Given the description of an element on the screen output the (x, y) to click on. 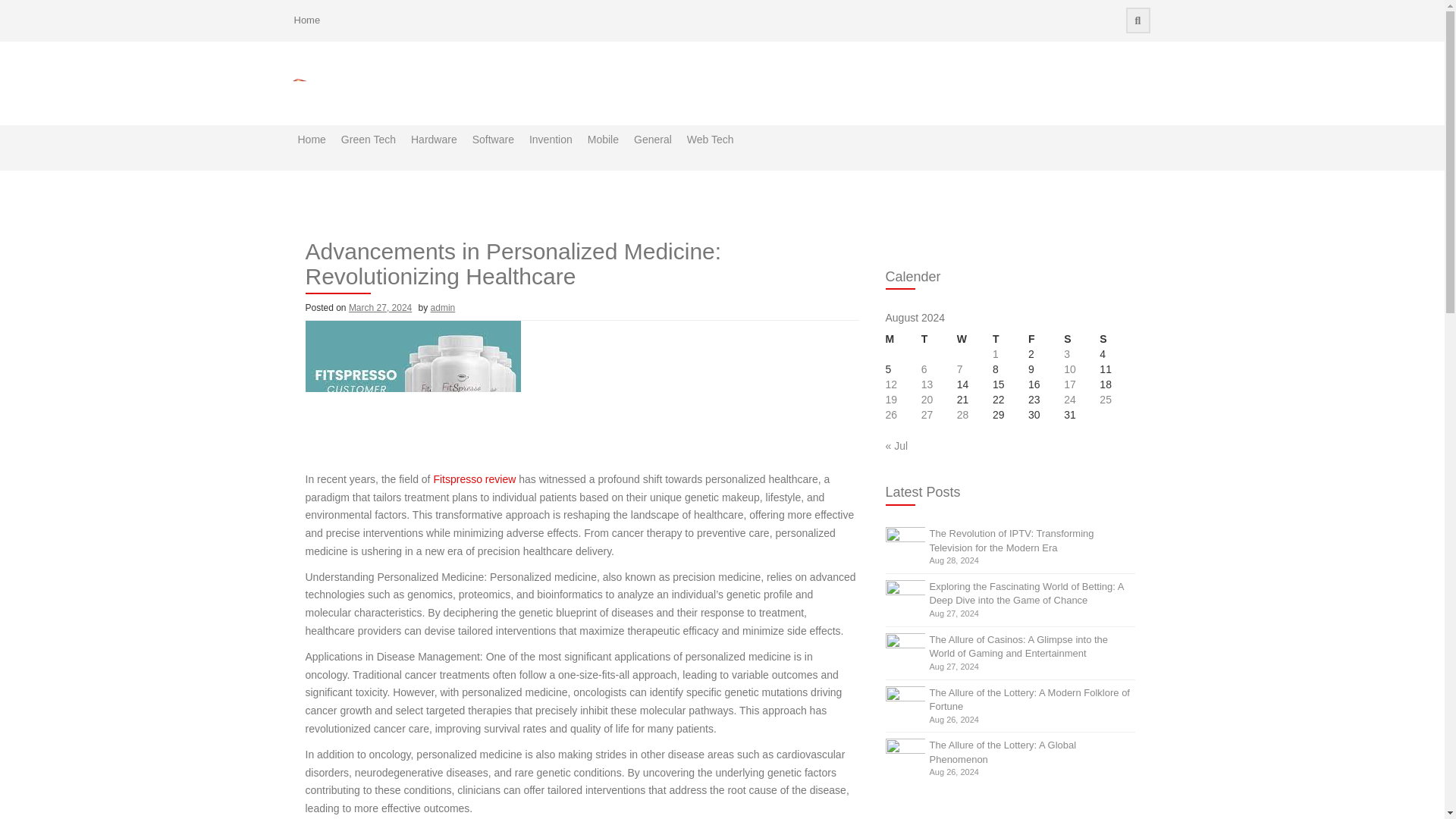
Computer (701, 184)
17 (1069, 384)
Home (306, 20)
Eco Friendly (408, 184)
13 (927, 384)
Friday (1045, 339)
Re-Usable (416, 184)
20 (927, 399)
Home (311, 147)
General (652, 147)
